Given the description of an element on the screen output the (x, y) to click on. 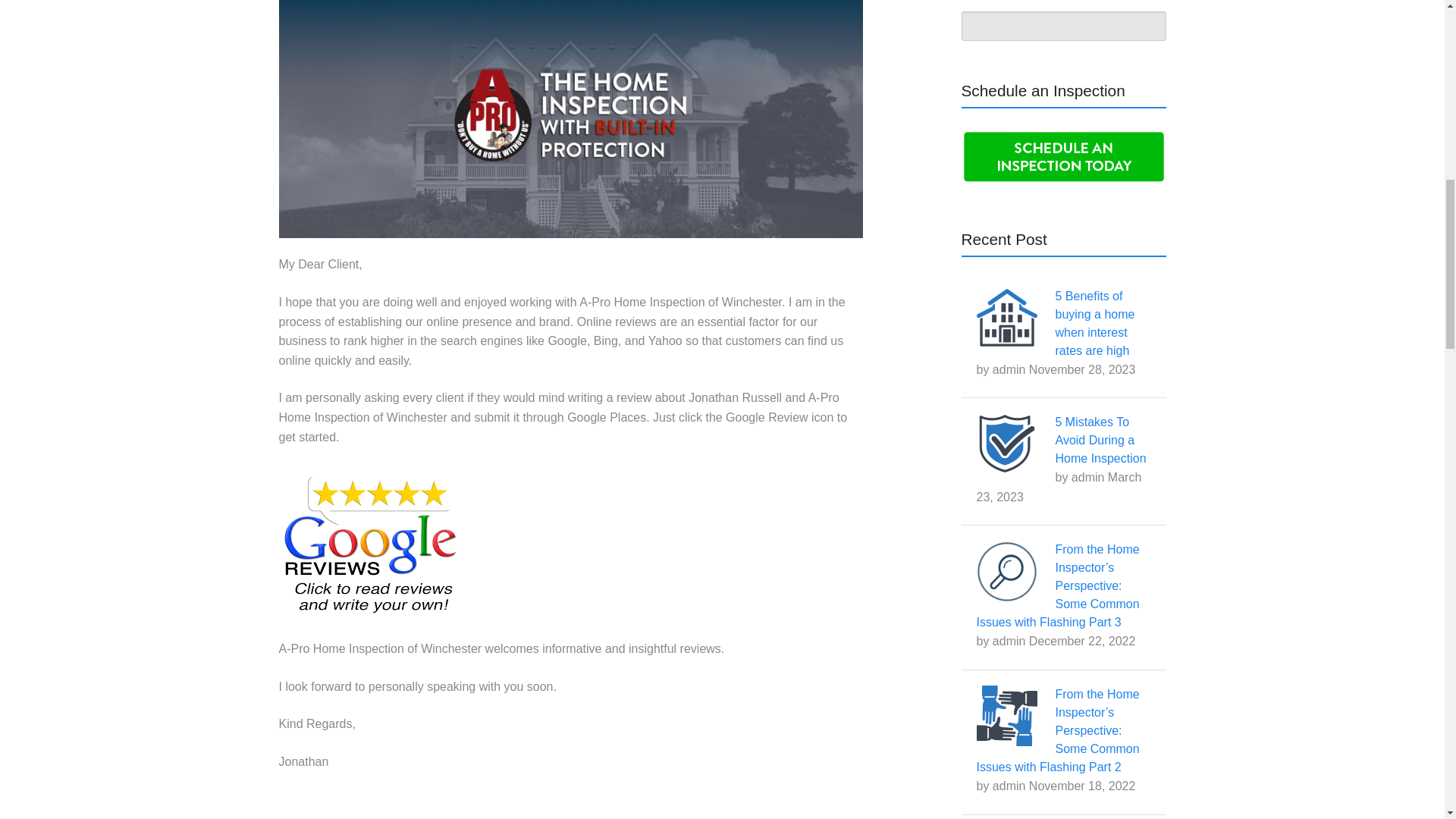
5 Mistakes To Avoid During a Home Inspection (1101, 440)
5 Mistakes To Avoid During a Home Inspection (1101, 440)
5 Benefits of buying a home when interest rates are high (1095, 323)
5 Benefits of buying a home when interest rates are high (1095, 323)
